Given the description of an element on the screen output the (x, y) to click on. 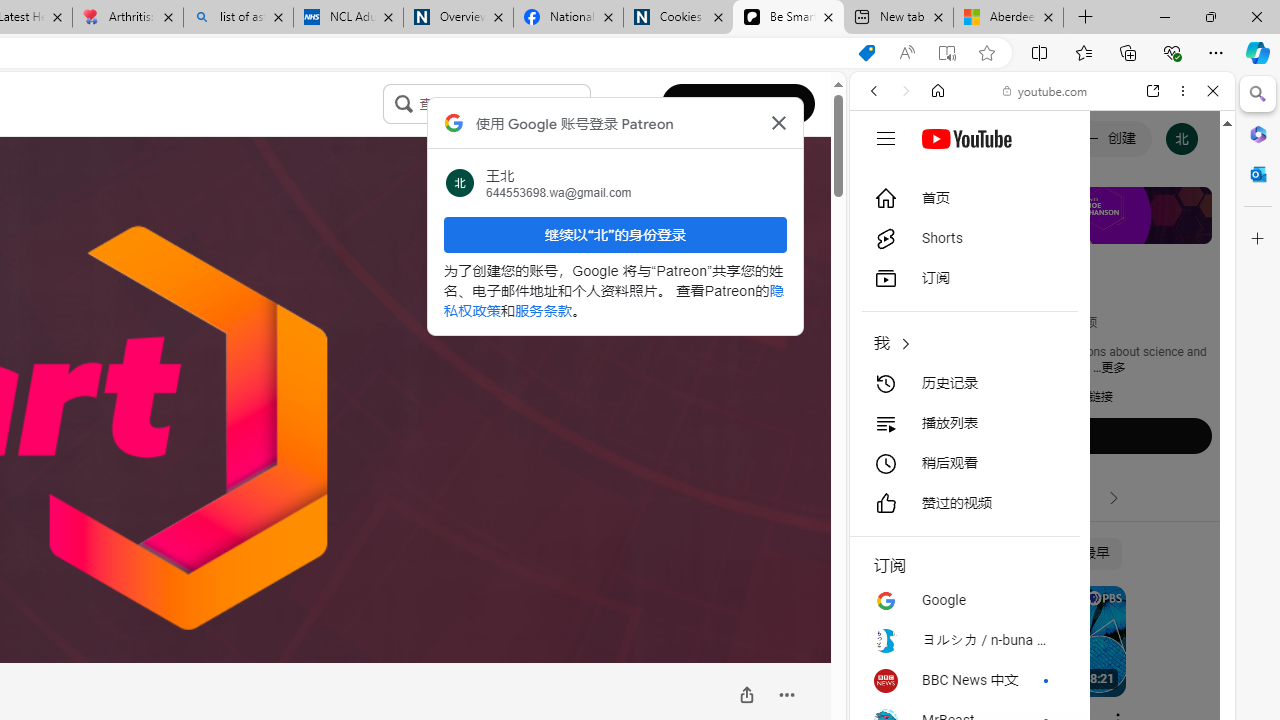
Class: sc-jrQzAO inFiZu (403, 103)
Be Smart | creating Science videos | Patreon (788, 17)
Aberdeen, Hong Kong SAR hourly forecast | Microsoft Weather (1008, 17)
Search Filter, WEB (882, 228)
SEARCH TOOLS (1093, 228)
Trailer #2 [HD] (1042, 592)
patreon.com/itsokaytobesmart (941, 397)
